Given the description of an element on the screen output the (x, y) to click on. 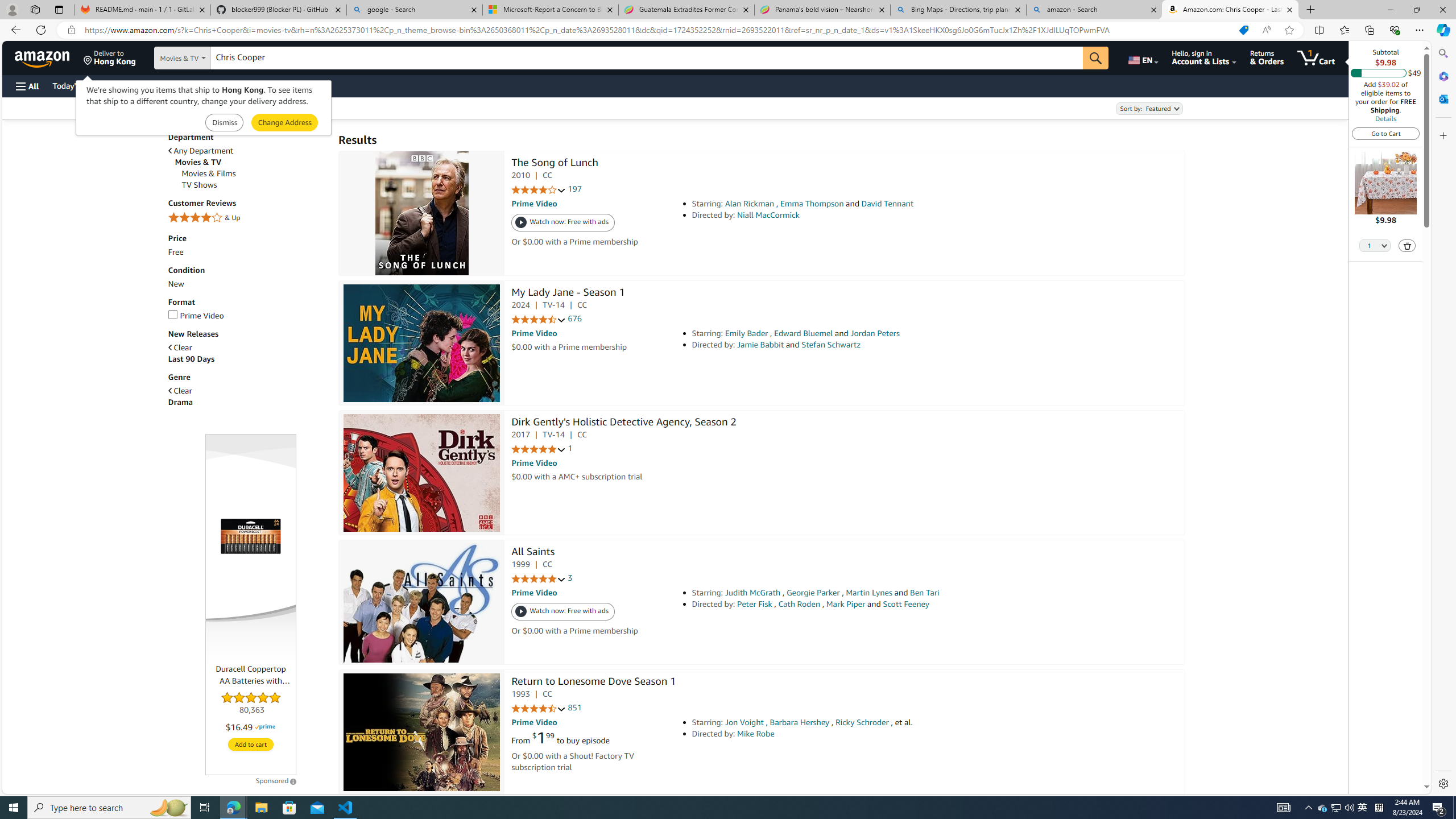
Sell (290, 85)
Return to Lonesome Dove Season 1 (593, 682)
Hello, sign in Account & Lists (1203, 57)
Jordan Peters (874, 333)
My Lady Jane - Season 1 (567, 293)
Alan Rickman (749, 203)
Last 90 Days (247, 358)
Free (247, 252)
